Given the description of an element on the screen output the (x, y) to click on. 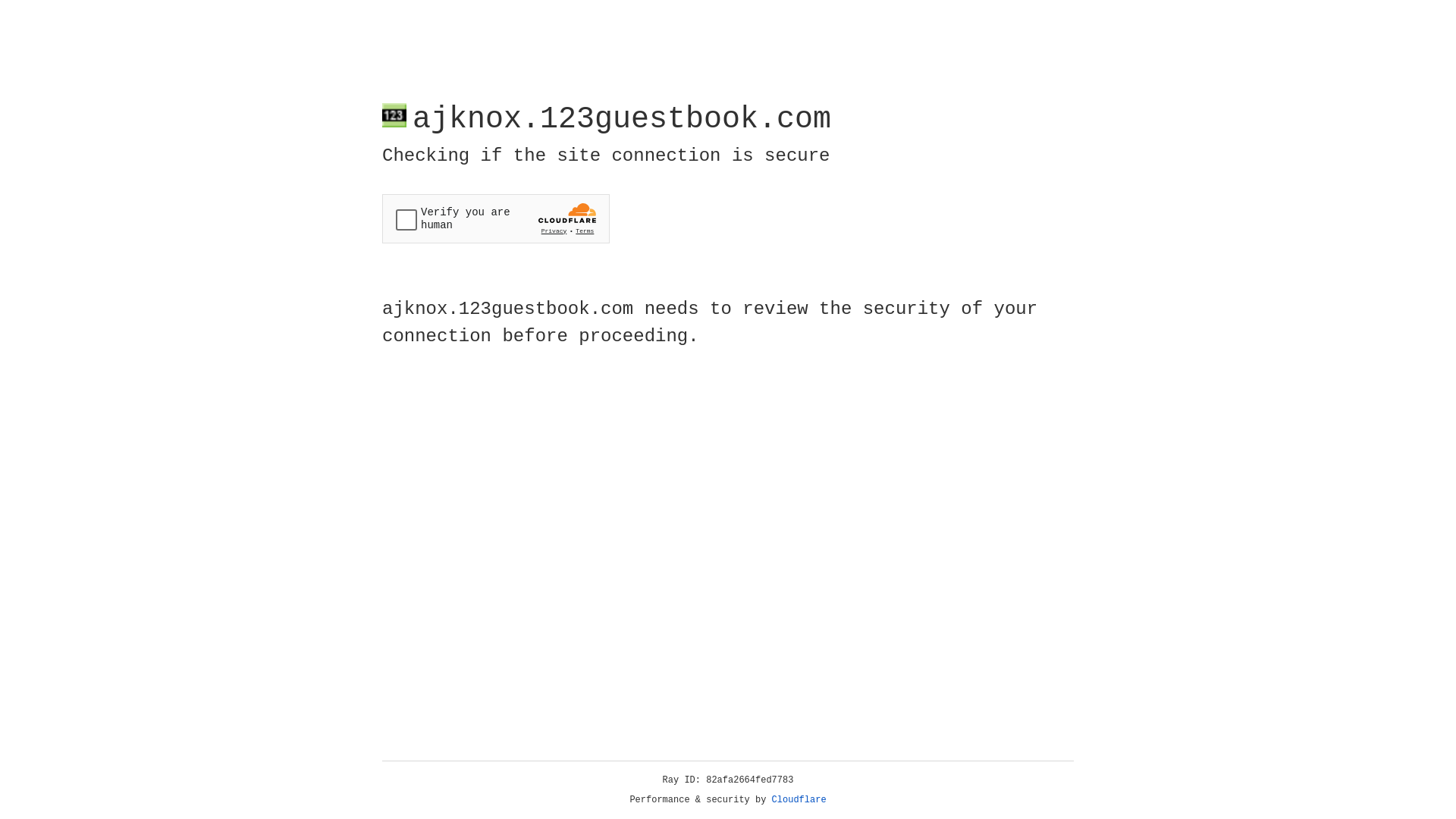
Widget containing a Cloudflare security challenge Element type: hover (495, 218)
Cloudflare Element type: text (798, 799)
